Given the description of an element on the screen output the (x, y) to click on. 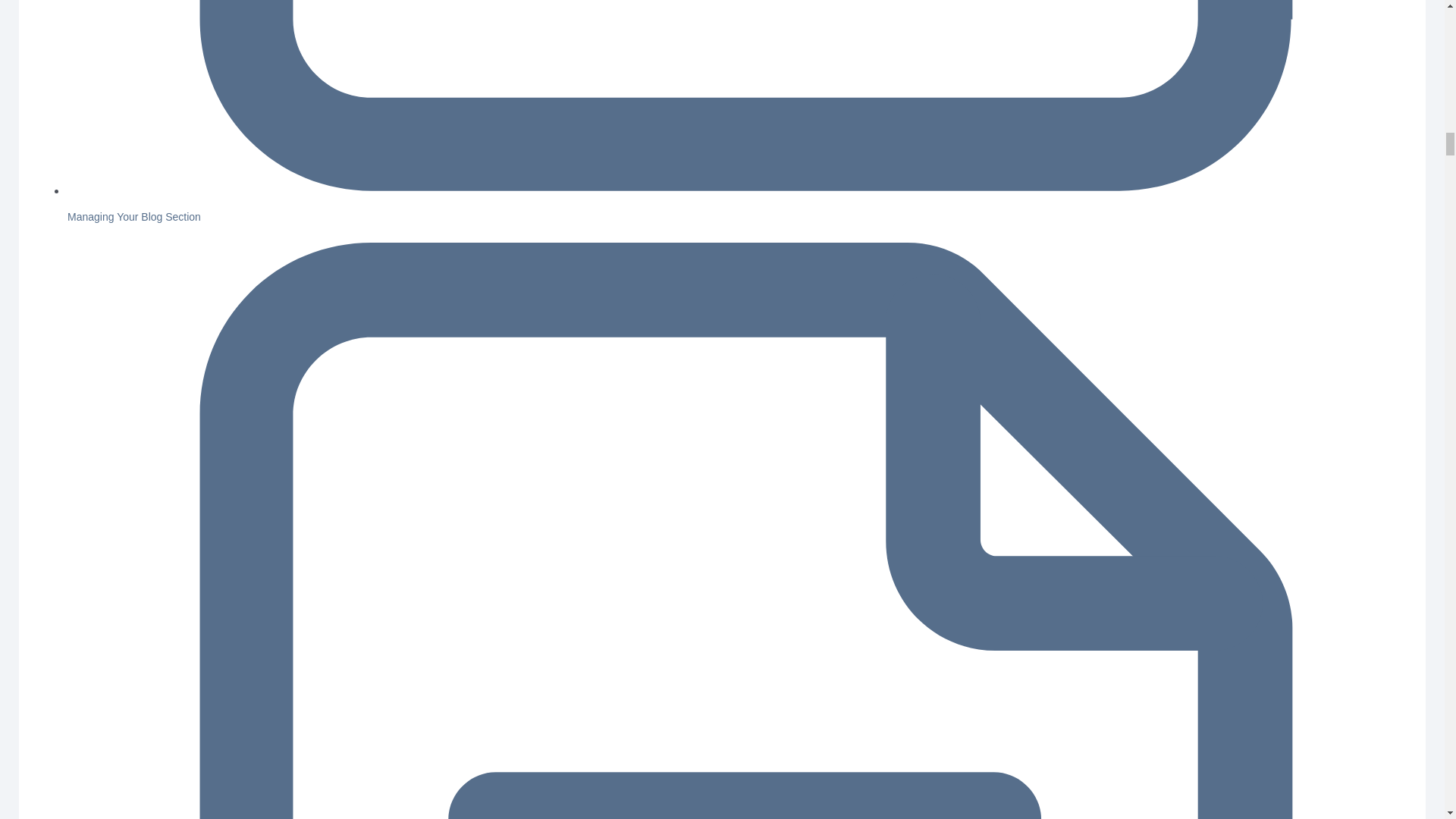
Managing Your Blog Section (133, 216)
